Given the description of an element on the screen output the (x, y) to click on. 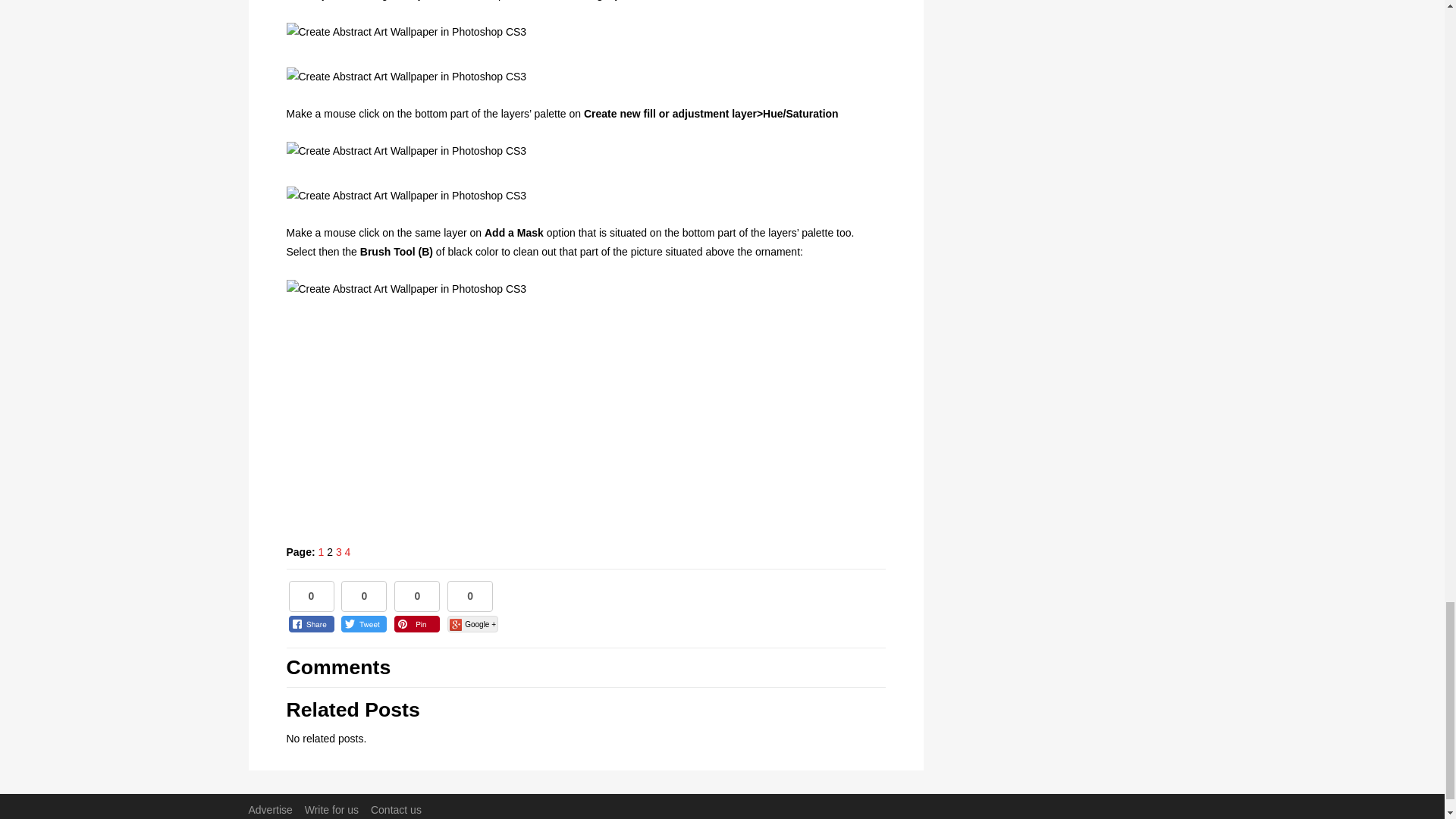
Contact us (396, 809)
Write for us (331, 809)
Advertise (270, 809)
Advertisement (579, 422)
